Given the description of an element on the screen output the (x, y) to click on. 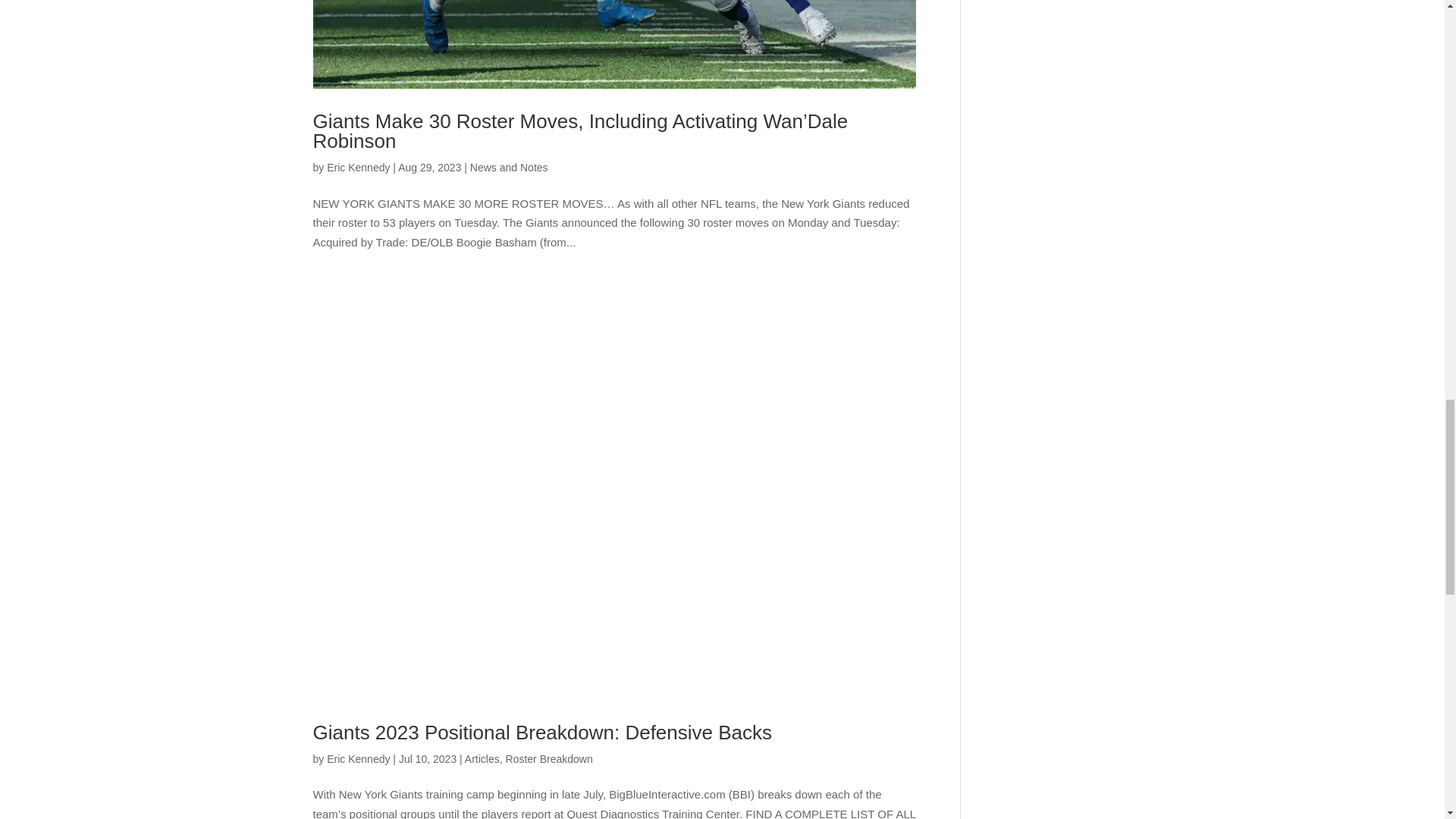
Posts by Eric Kennedy (358, 758)
Posts by Eric Kennedy (358, 167)
